Given the description of an element on the screen output the (x, y) to click on. 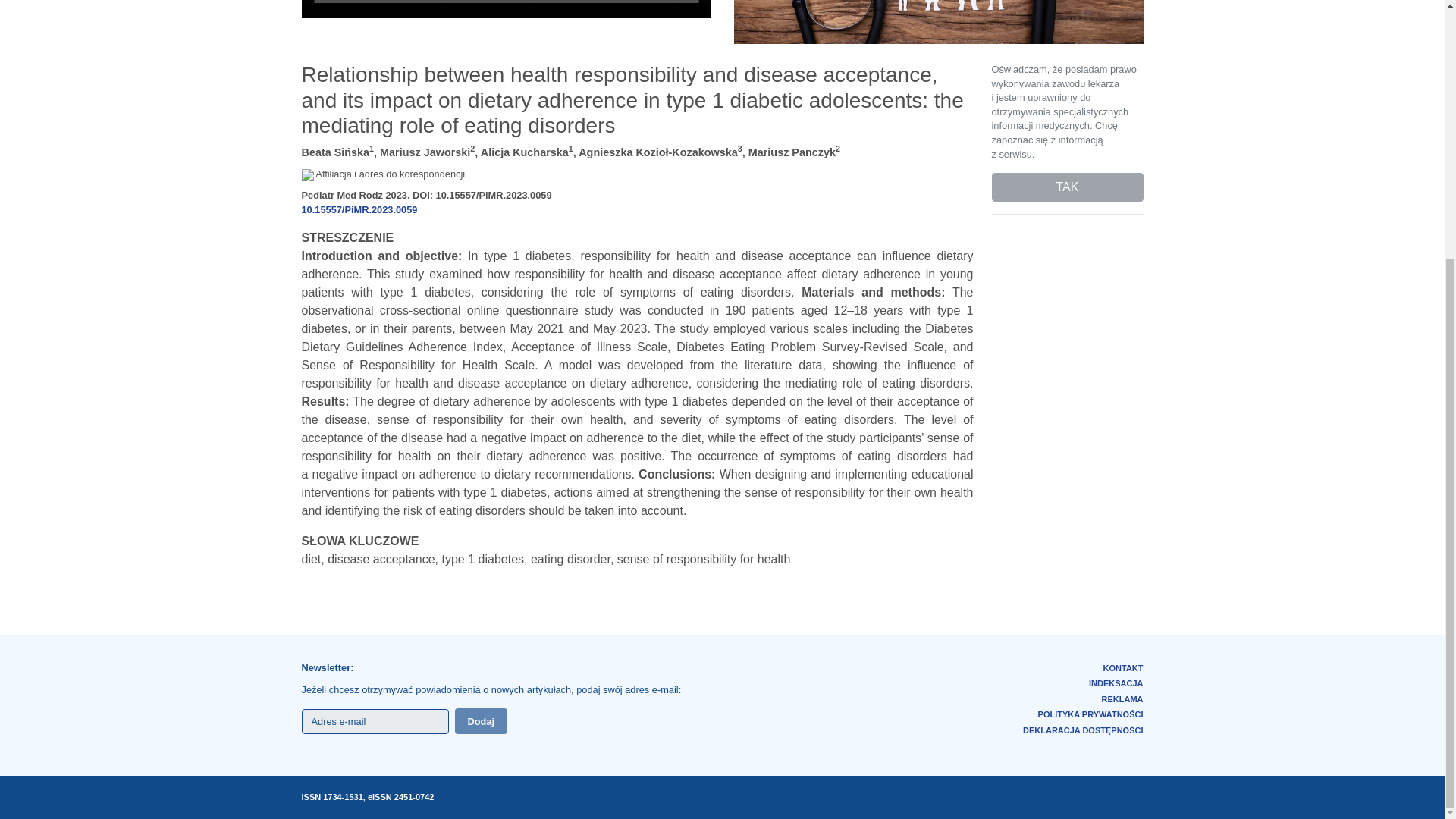
INDEKSACJA (1115, 682)
Dodaj (481, 720)
TAK (1066, 186)
KONTAKT (1122, 667)
REKLAMA (1121, 698)
